Given the description of an element on the screen output the (x, y) to click on. 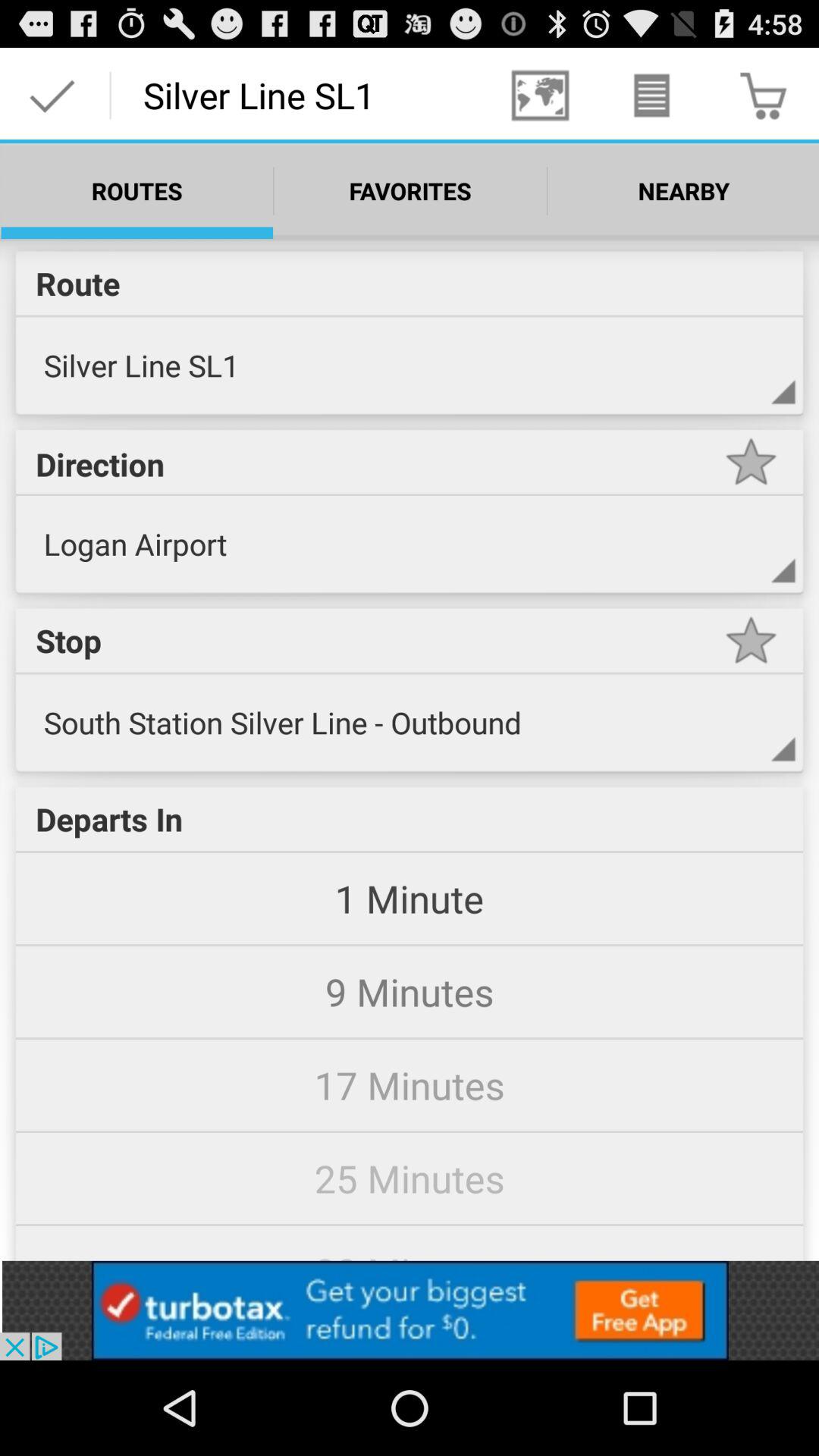
advertisement button (409, 1310)
